Given the description of an element on the screen output the (x, y) to click on. 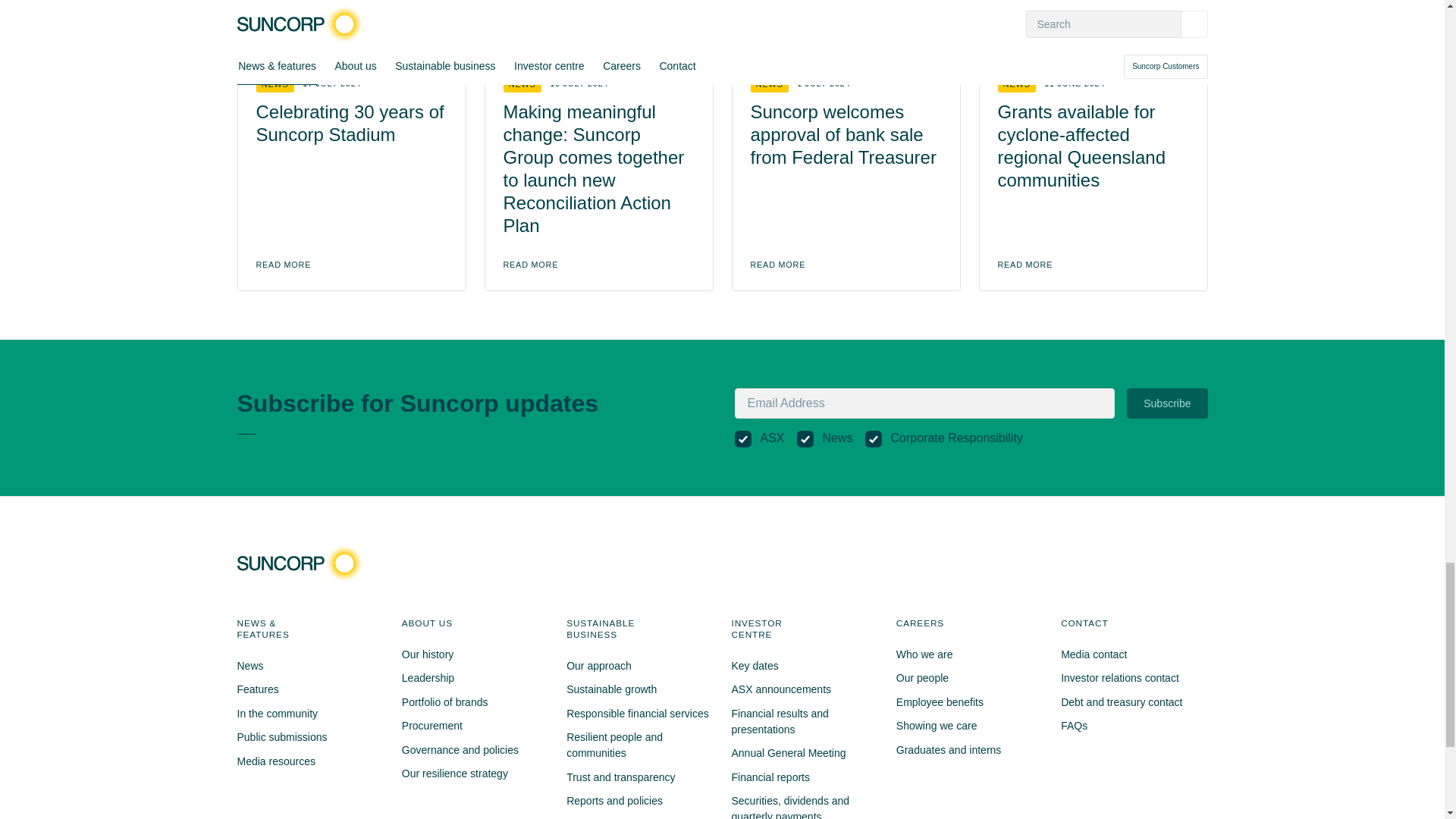
Link to youtube (1185, 563)
Suncorp Group Logo - Link to homepage (302, 563)
Link to linkedin (1158, 563)
Link to twitter (1131, 563)
Link to facebook (1104, 563)
